Given the description of an element on the screen output the (x, y) to click on. 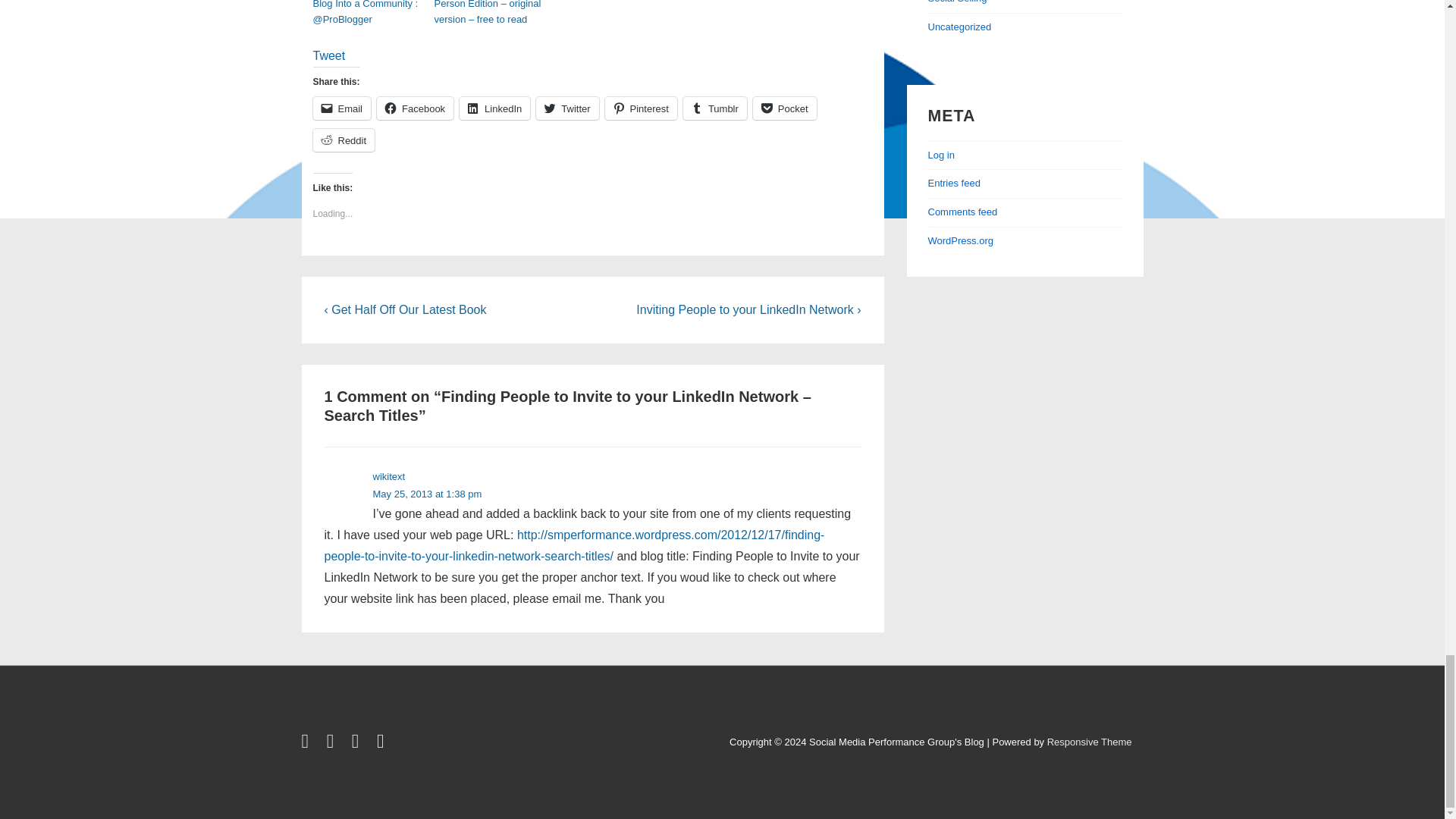
Email (342, 108)
LinkedIn (494, 108)
Tweet (329, 55)
Pinterest (641, 108)
Twitter (566, 108)
Click to share on LinkedIn (494, 108)
Click to share on Pocket (784, 108)
Click to share on Pinterest (641, 108)
Click to share on Facebook (414, 108)
Click to email a link to a friend (342, 108)
